Given the description of an element on the screen output the (x, y) to click on. 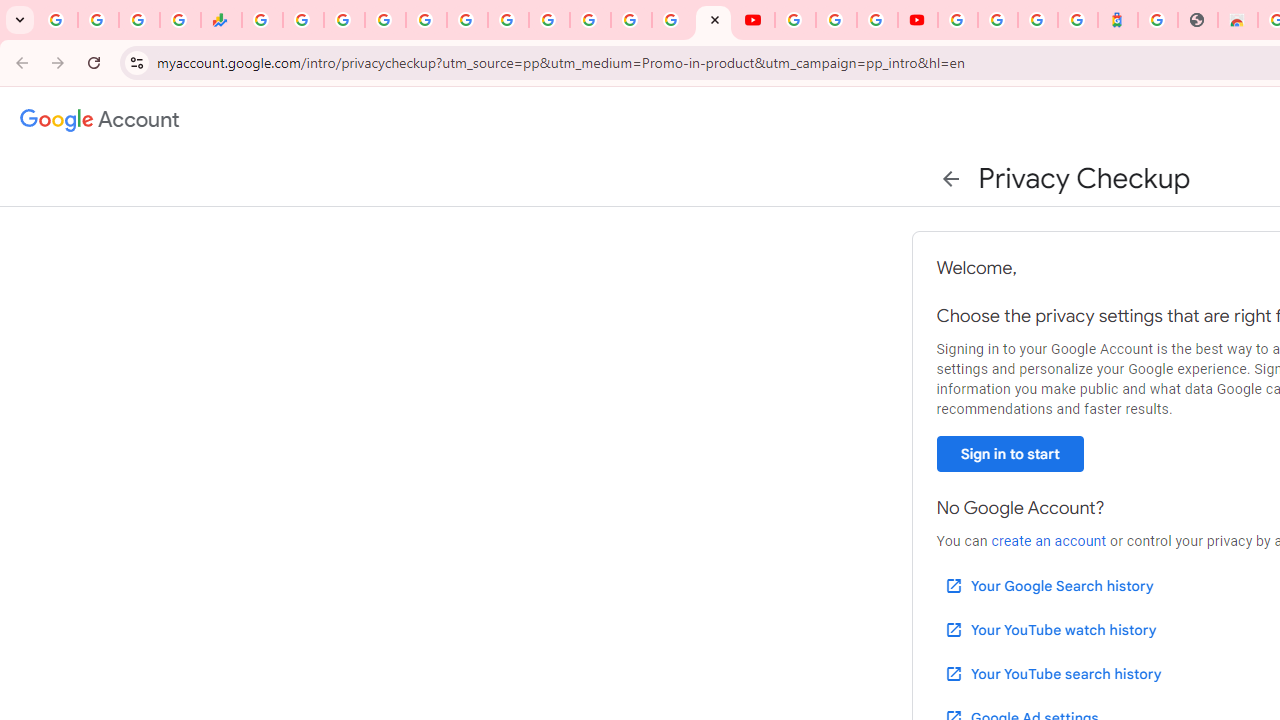
create an account (1048, 541)
Create your Google Account (877, 20)
YouTube (753, 20)
Your YouTube watch history (1049, 630)
Android TV Policies and Guidelines - Transparency Center (507, 20)
YouTube (548, 20)
